Given the description of an element on the screen output the (x, y) to click on. 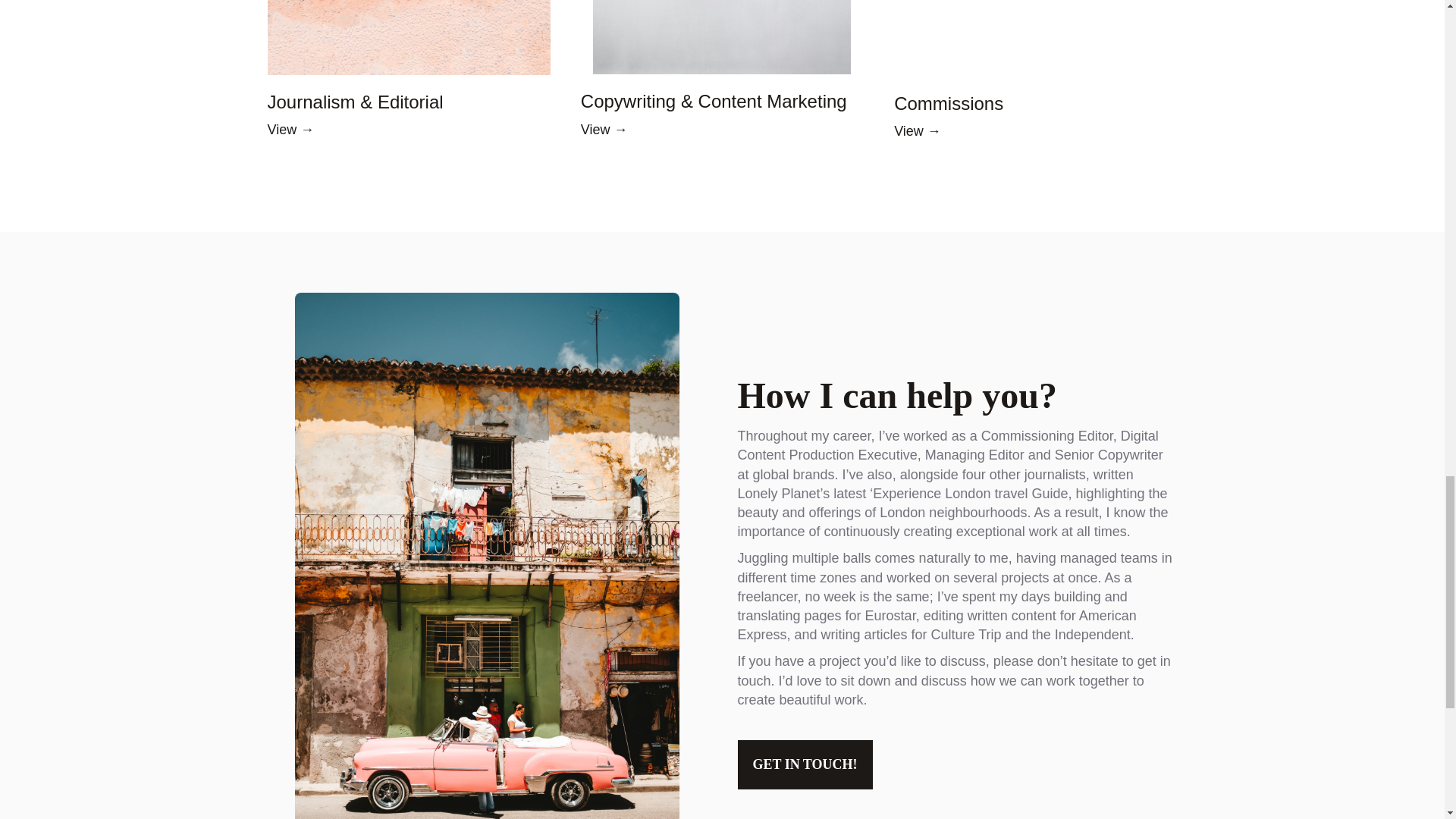
View (595, 129)
GET IN TOUCH! (804, 764)
get in touch (953, 670)
